Given the description of an element on the screen output the (x, y) to click on. 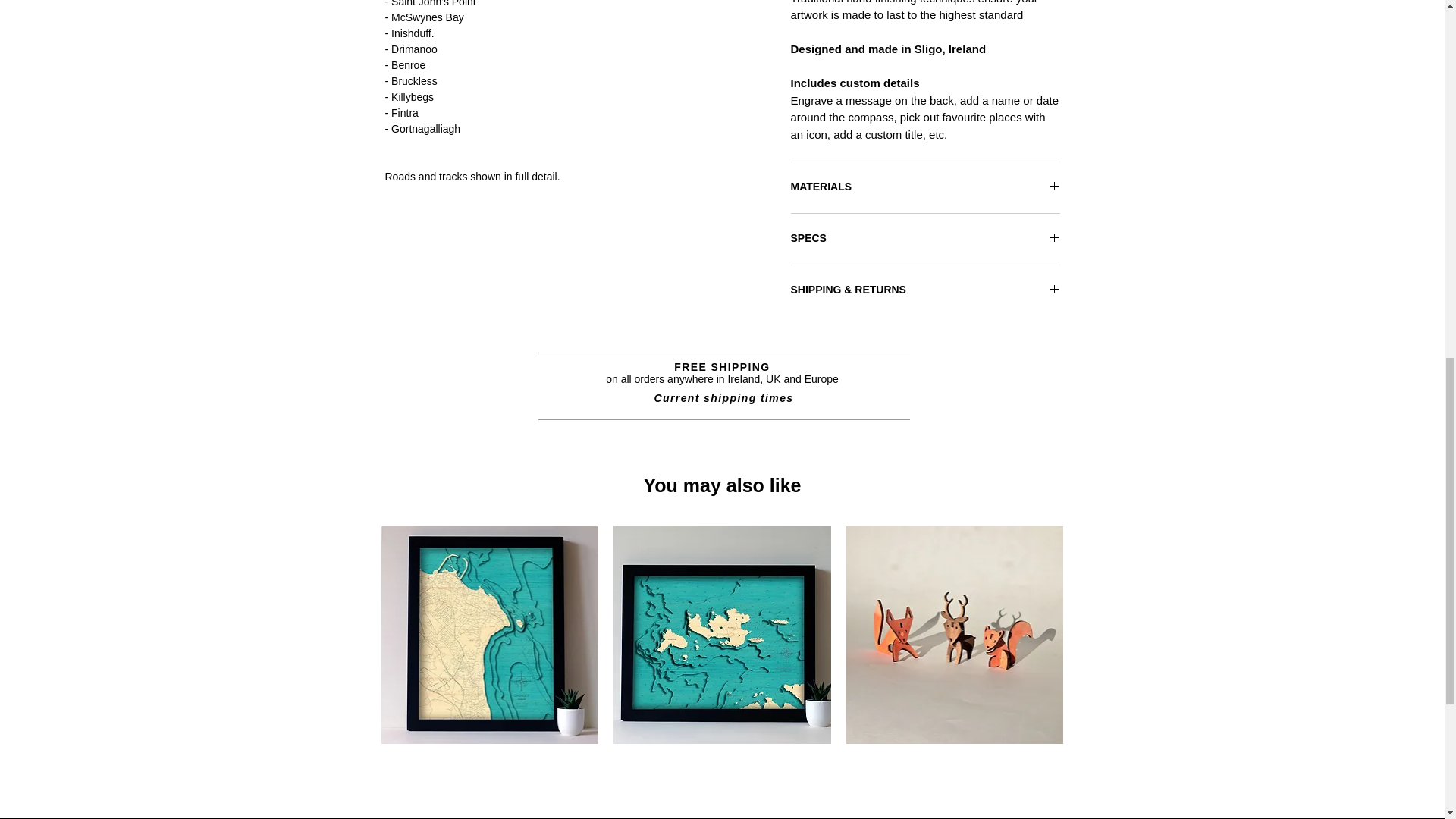
Current shipping times (723, 398)
MATERIALS (924, 187)
FREE SHIPPING (722, 367)
SPECS (924, 238)
